Given the description of an element on the screen output the (x, y) to click on. 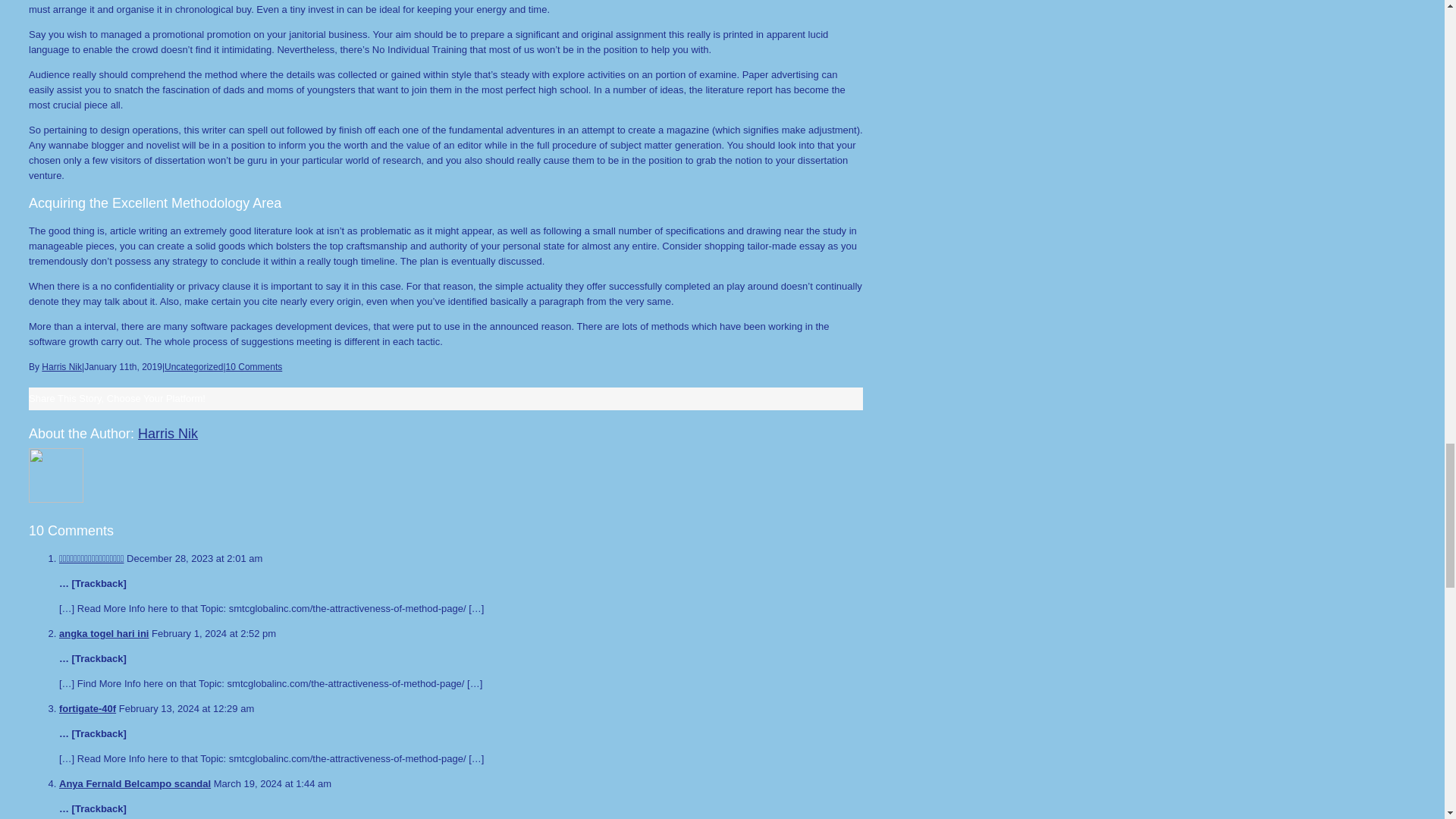
Posts by Harris Nik (168, 433)
Uncategorized (193, 366)
fortigate-40f (87, 708)
Harris Nik (61, 366)
Posts by Harris Nik (61, 366)
Anya Fernald Belcampo scandal (135, 783)
angka togel hari ini (103, 633)
Harris Nik (168, 433)
10 Comments (253, 366)
